Given the description of an element on the screen output the (x, y) to click on. 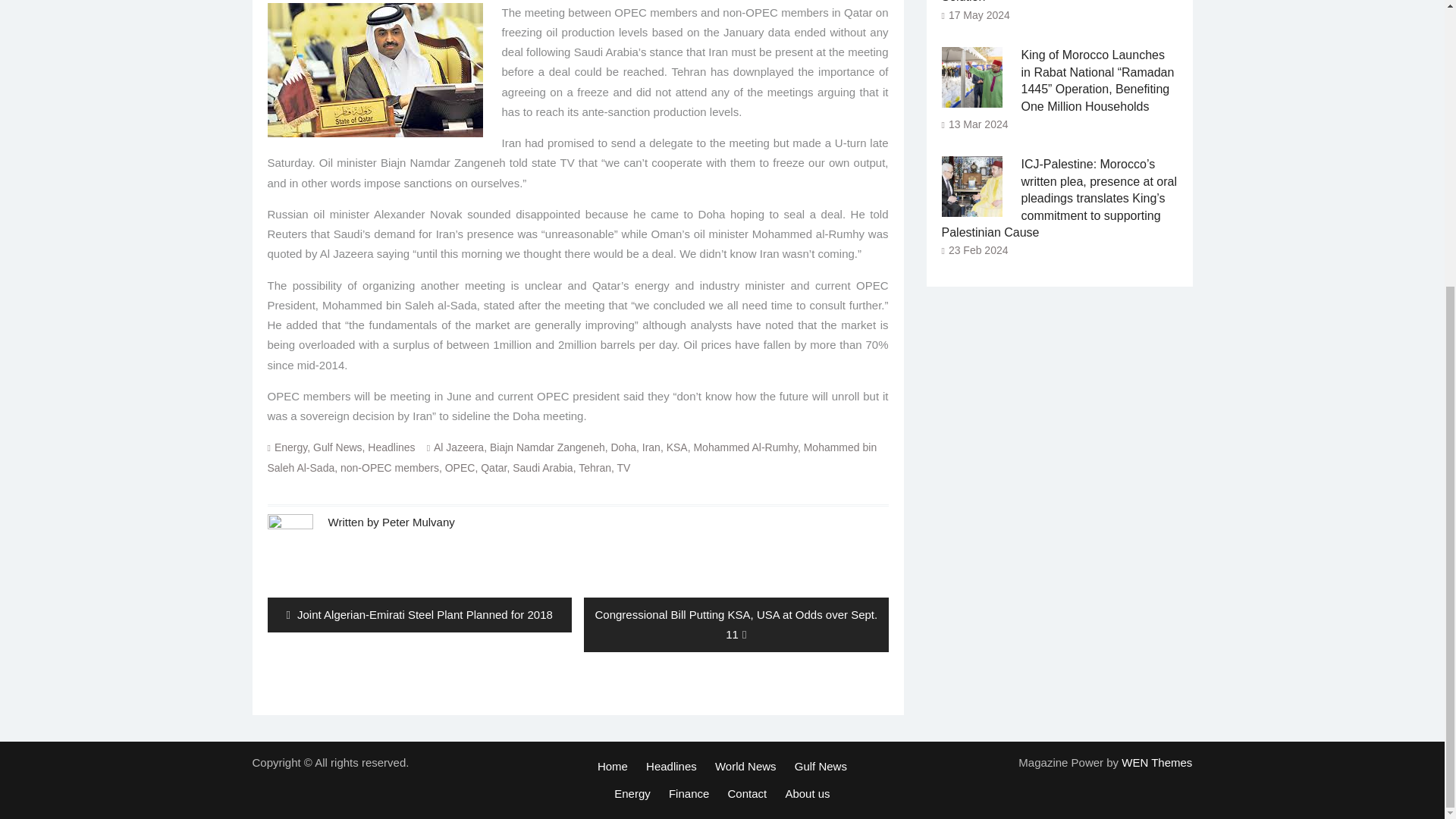
KSA (676, 447)
Gulf News (337, 447)
Biajn Namdar Zangeneh (547, 447)
Energy (291, 447)
Headlines (391, 447)
Doha (623, 447)
Iran (651, 447)
non-OPEC members (389, 467)
Posts by Peter Mulvany (417, 521)
Mohammed bin Saleh Al-Sada (571, 457)
